Given the description of an element on the screen output the (x, y) to click on. 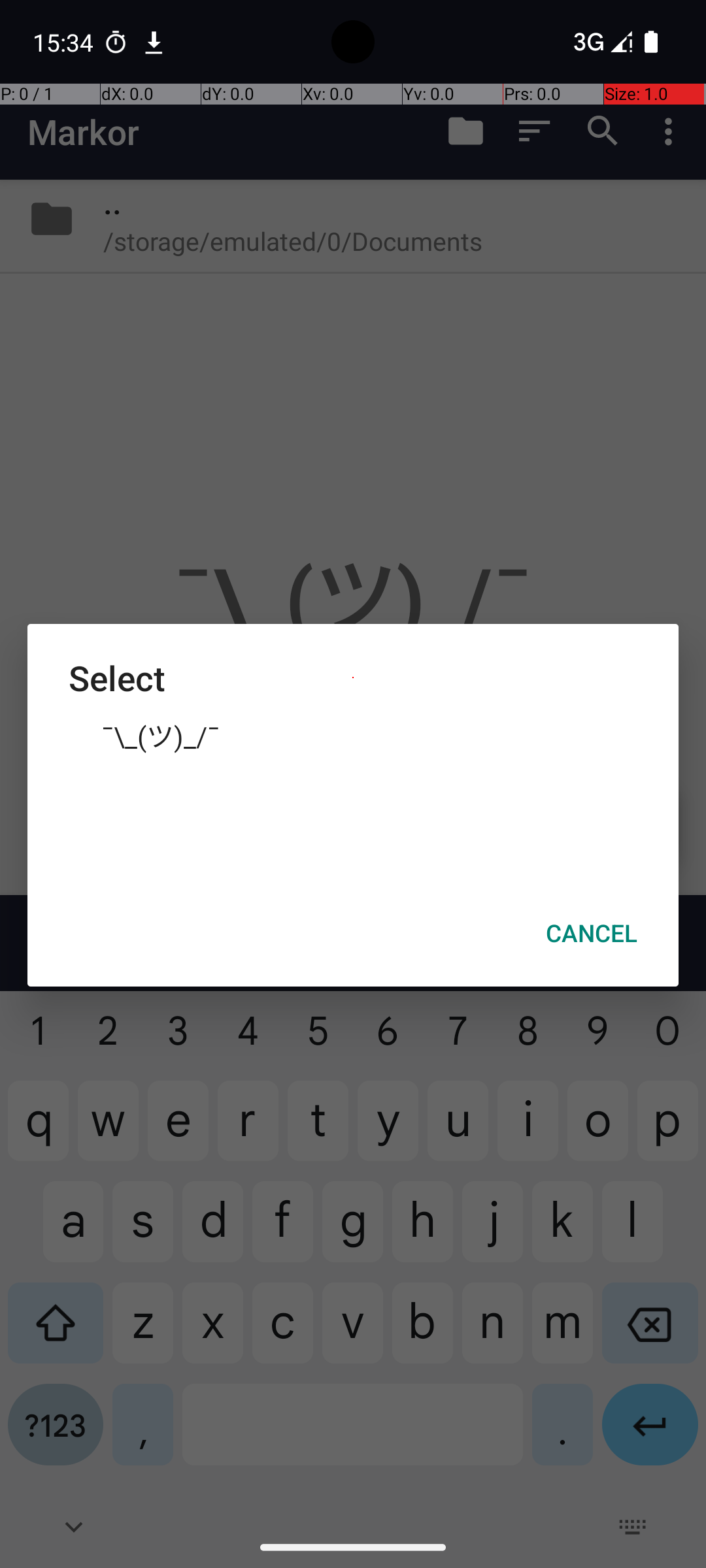
     ¯\_(ツ)_/¯      Element type: android.widget.TextView (352, 734)
